Given the description of an element on the screen output the (x, y) to click on. 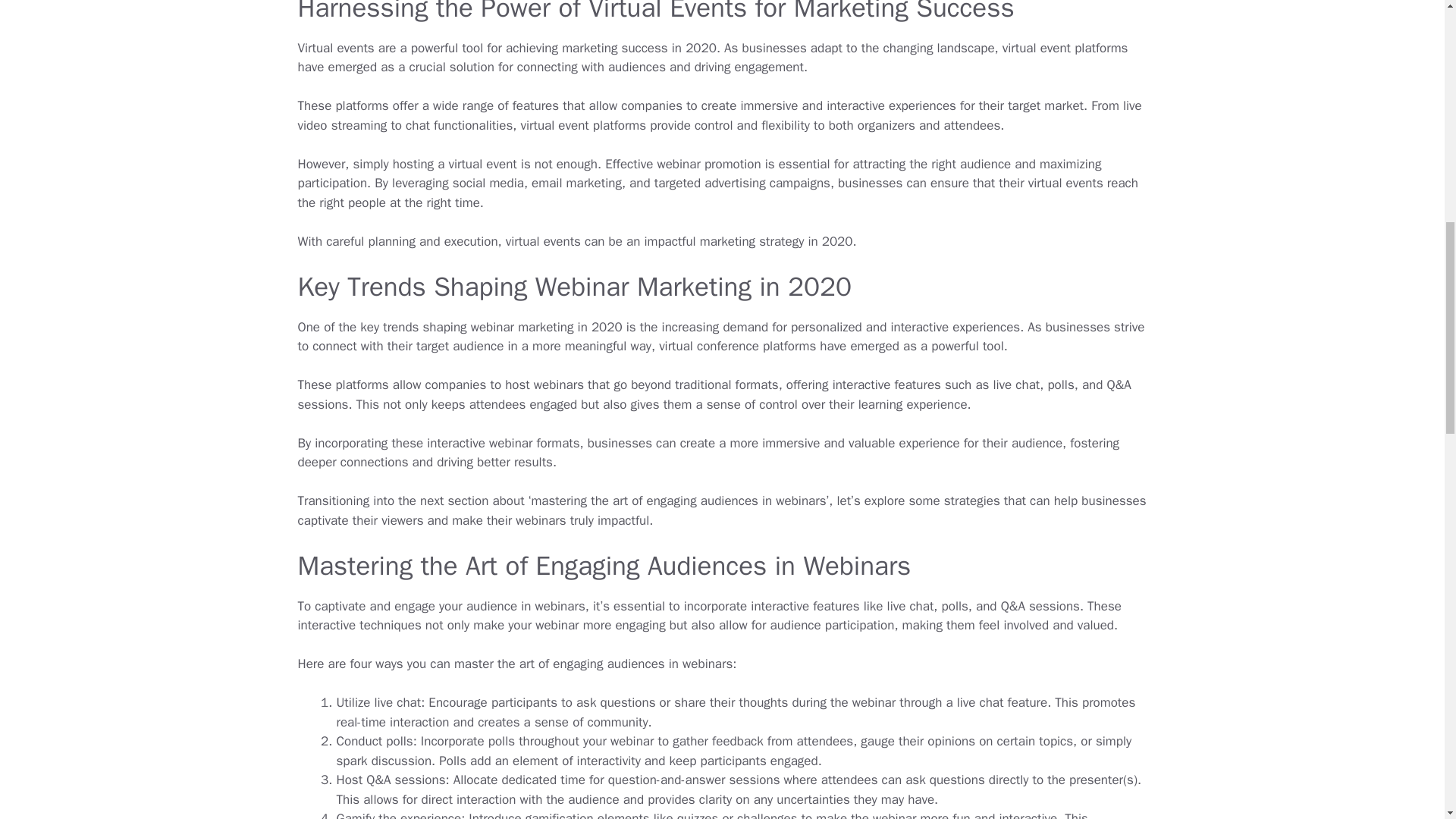
Scroll back to top (1406, 720)
